Given the description of an element on the screen output the (x, y) to click on. 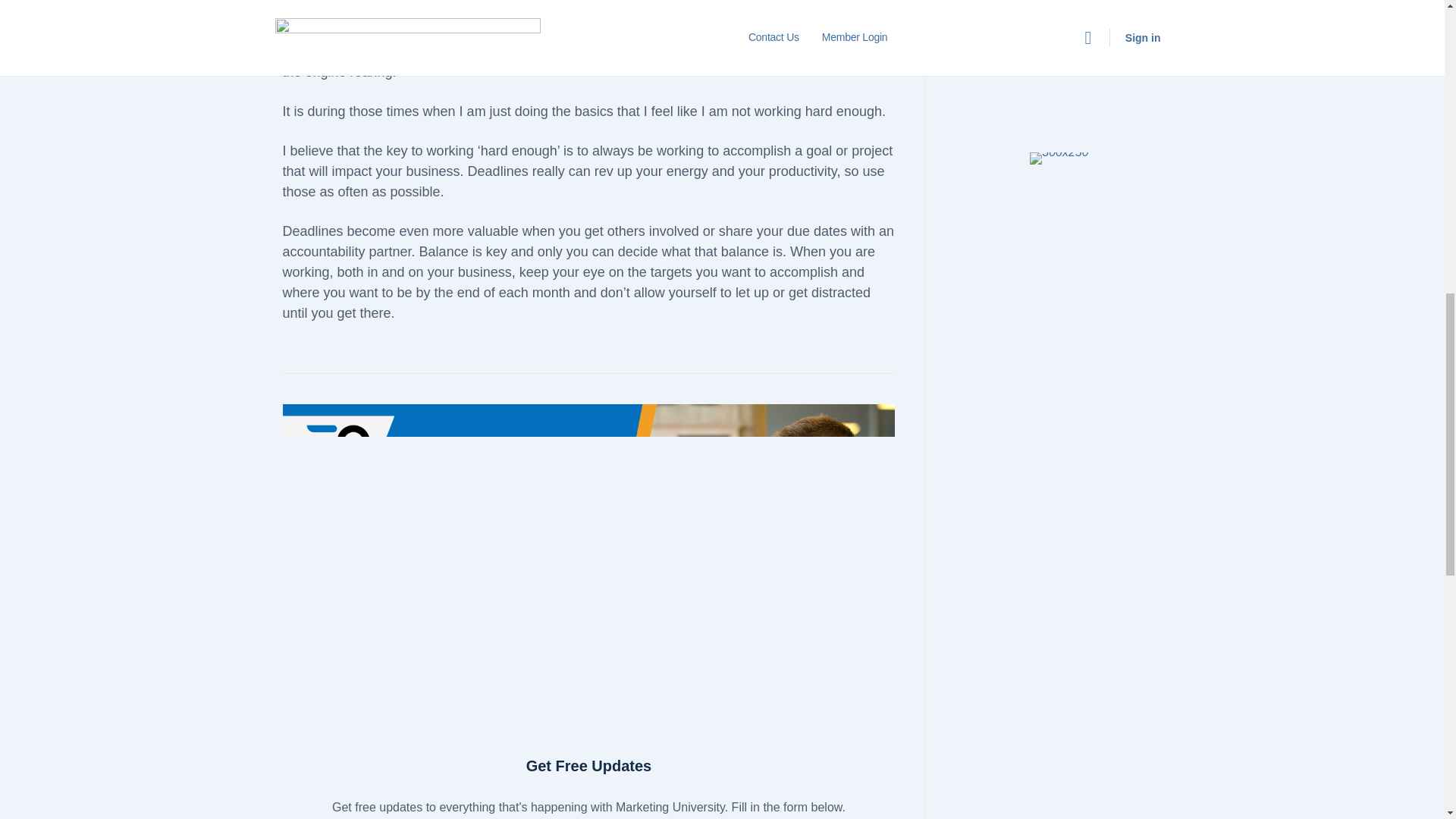
Story (1058, 61)
300x250 (1058, 158)
